Given the description of an element on the screen output the (x, y) to click on. 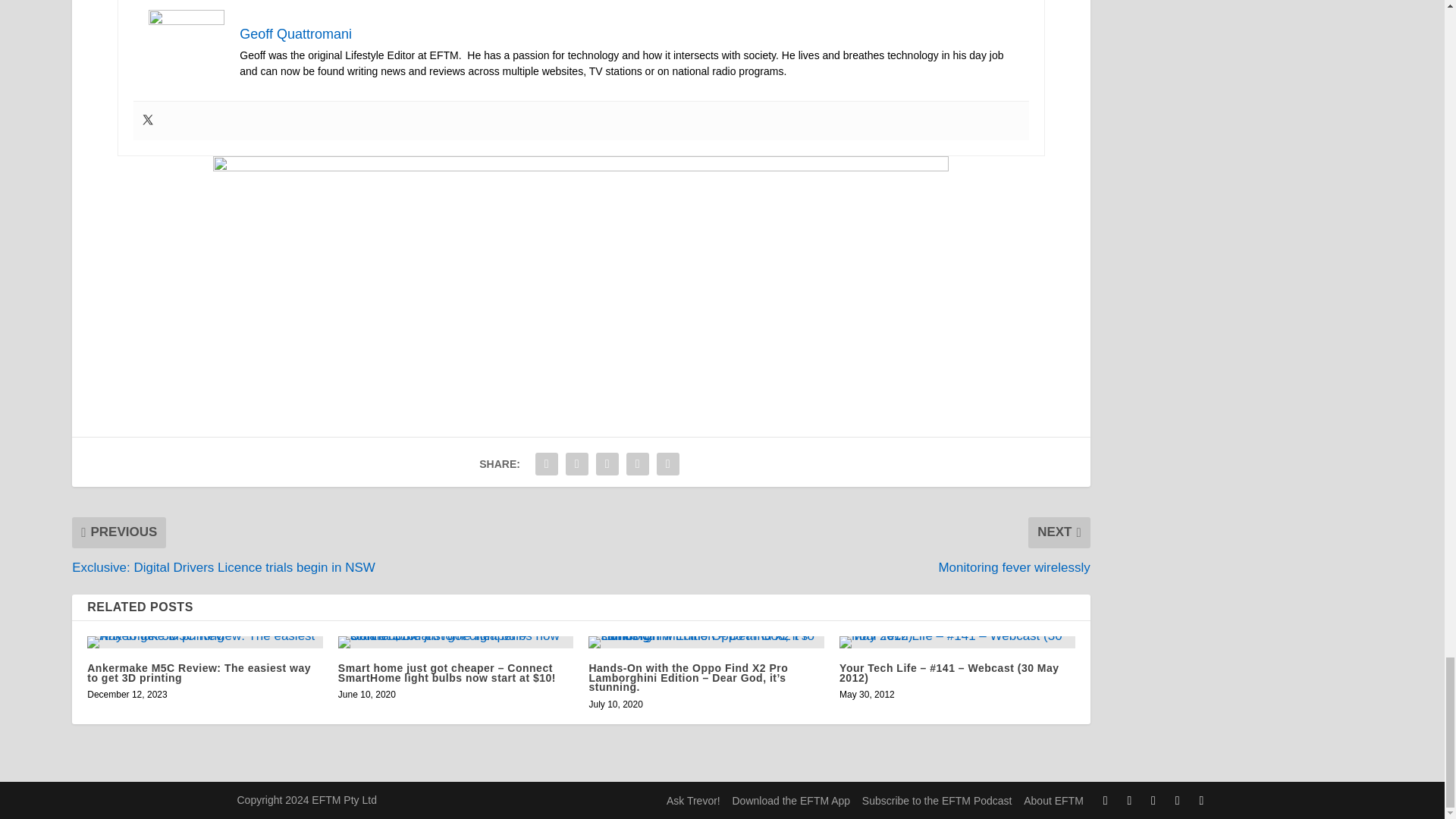
Geoff Quattromani (296, 33)
Share "The Autonomous Baby Stroller" via Print (667, 463)
Share "The Autonomous Baby Stroller" via Facebook (546, 463)
Share "The Autonomous Baby Stroller" via LinkedIn (607, 463)
Share "The Autonomous Baby Stroller" via Email (637, 463)
Ankermake M5C Review: The easiest way to get 3D printing (205, 642)
Share "The Autonomous Baby Stroller" via Twitter (577, 463)
